Given the description of an element on the screen output the (x, y) to click on. 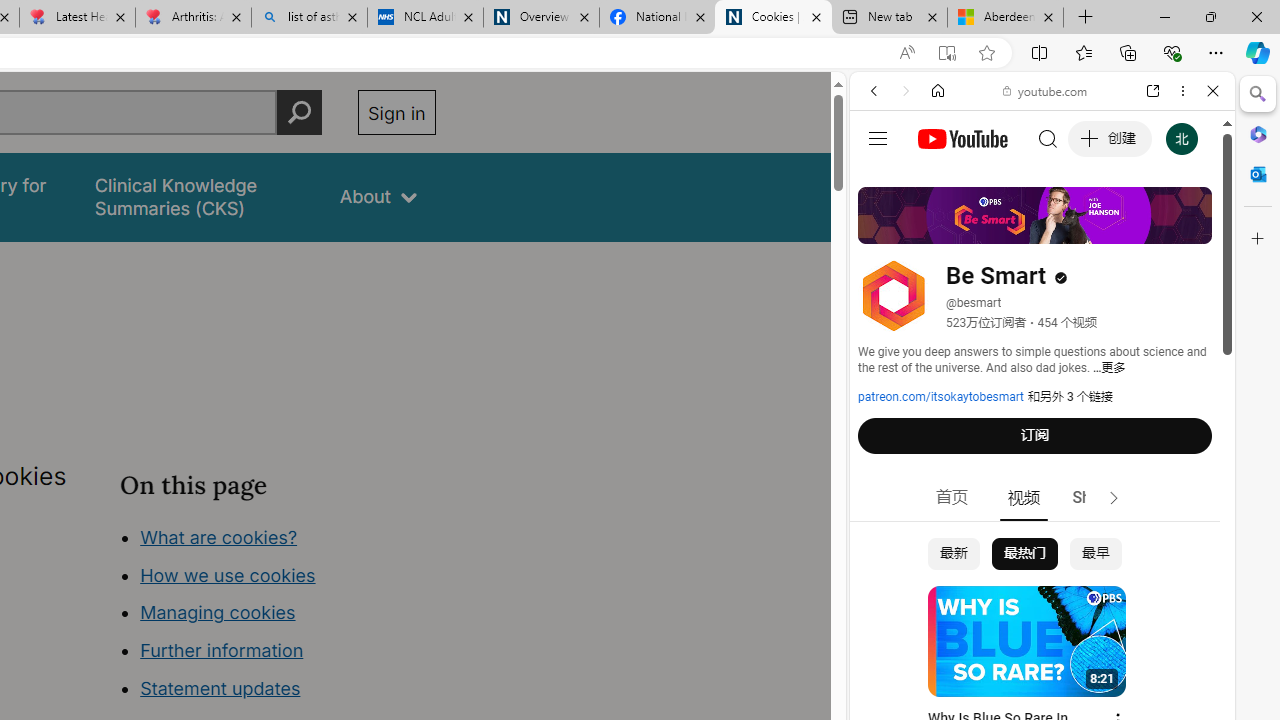
AutomationID: right (1113, 497)
youtube.com (1046, 90)
